Given the description of an element on the screen output the (x, y) to click on. 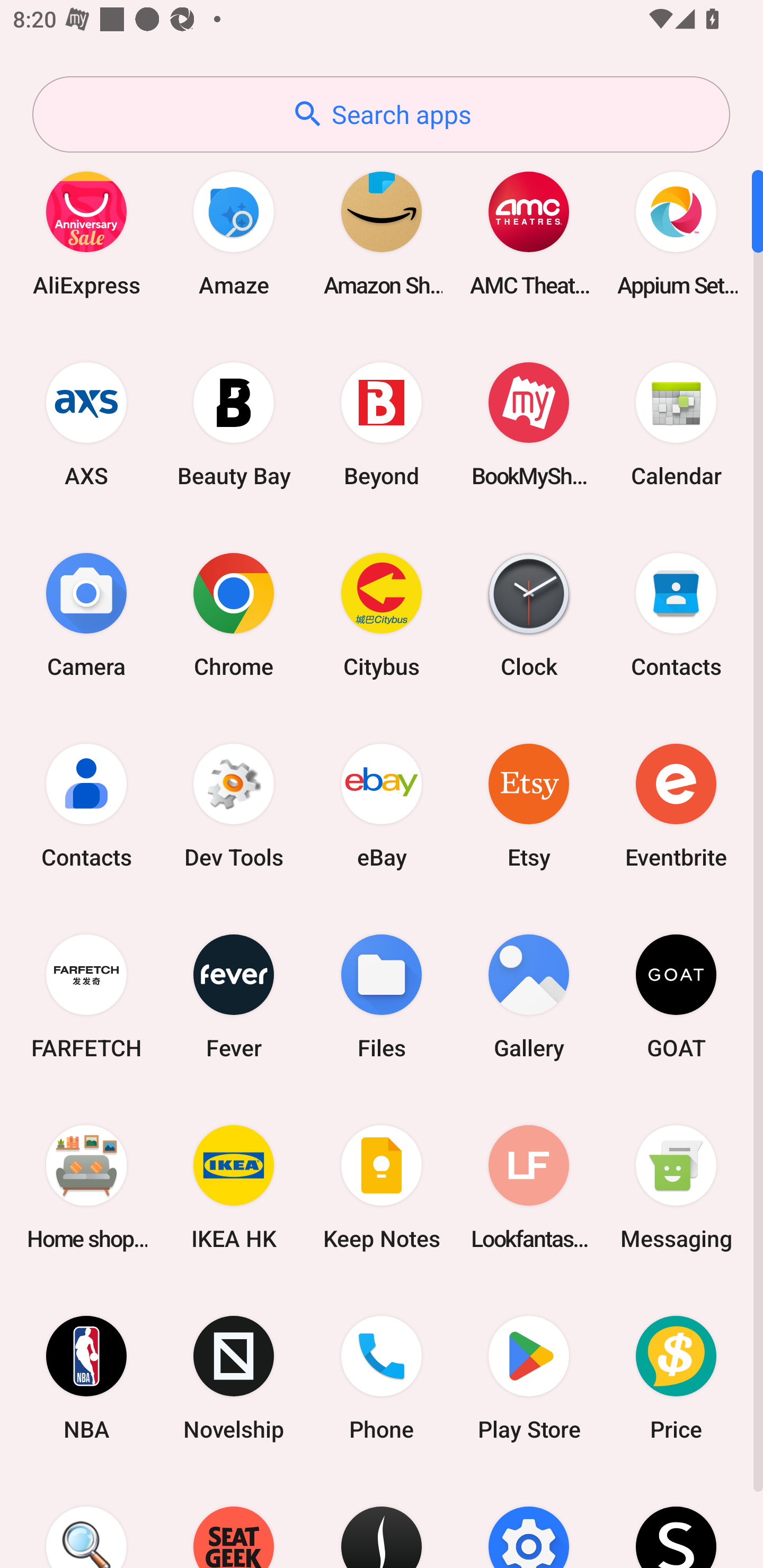
  Search apps (381, 114)
AliExpress (86, 233)
Amaze (233, 233)
Amazon Shopping (381, 233)
AMC Theatres (528, 233)
Appium Settings (676, 233)
AXS (86, 424)
Beauty Bay (233, 424)
Beyond (381, 424)
BookMyShow (528, 424)
Calendar (676, 424)
Camera (86, 614)
Chrome (233, 614)
Citybus (381, 614)
Clock (528, 614)
Contacts (676, 614)
Contacts (86, 805)
Dev Tools (233, 805)
eBay (381, 805)
Etsy (528, 805)
Eventbrite (676, 805)
FARFETCH (86, 996)
Fever (233, 996)
Files (381, 996)
Gallery (528, 996)
GOAT (676, 996)
Home shopping (86, 1186)
IKEA HK (233, 1186)
Keep Notes (381, 1186)
Lookfantastic (528, 1186)
Messaging (676, 1186)
NBA (86, 1377)
Novelship (233, 1377)
Phone (381, 1377)
Play Store (528, 1377)
Price (676, 1377)
